Given the description of an element on the screen output the (x, y) to click on. 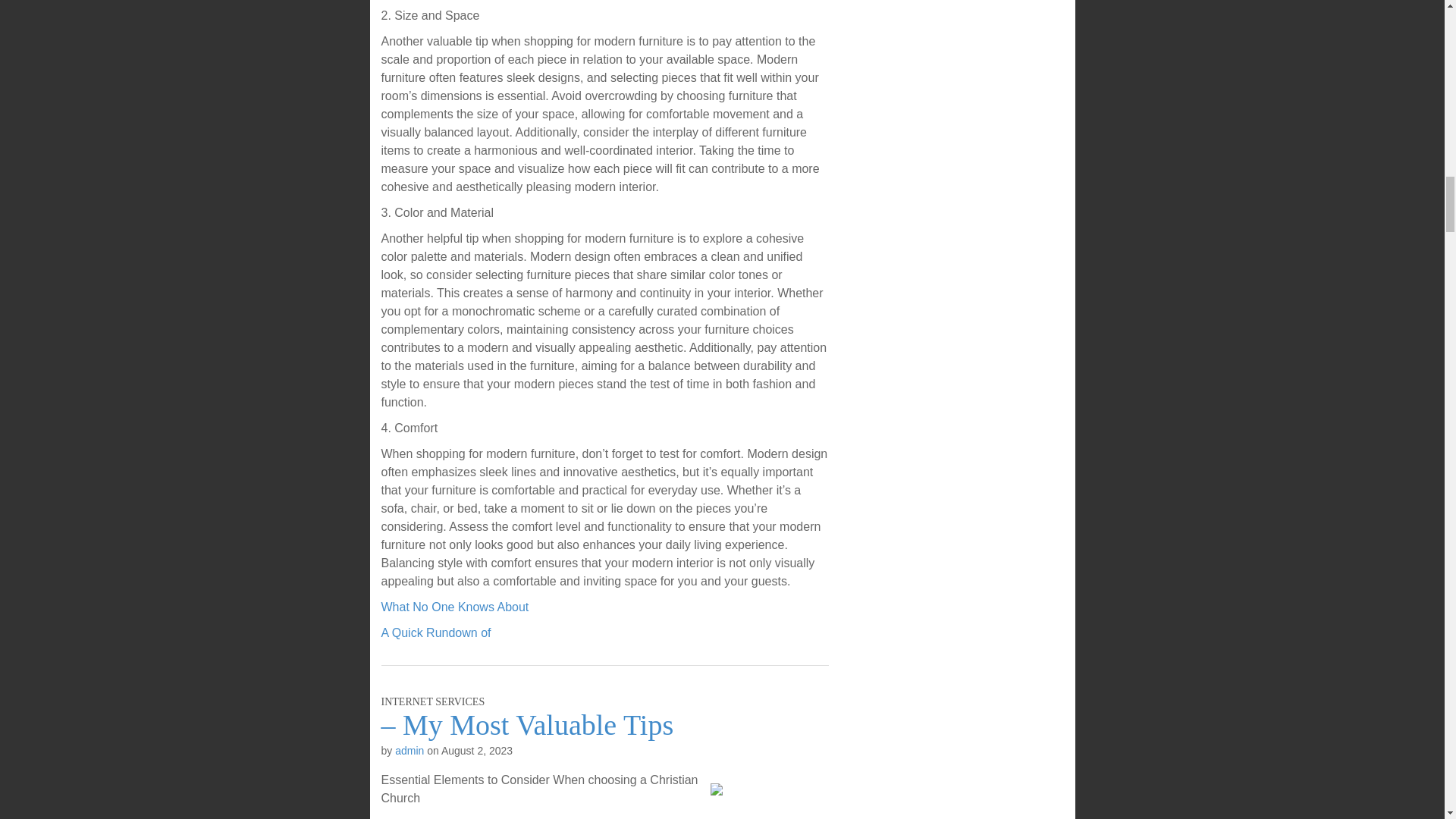
Posts by admin (408, 750)
What No One Knows About (454, 606)
August 2, 2023 (476, 750)
A Quick Rundown of (435, 632)
admin (408, 750)
INTERNET SERVICES (432, 701)
